Given the description of an element on the screen output the (x, y) to click on. 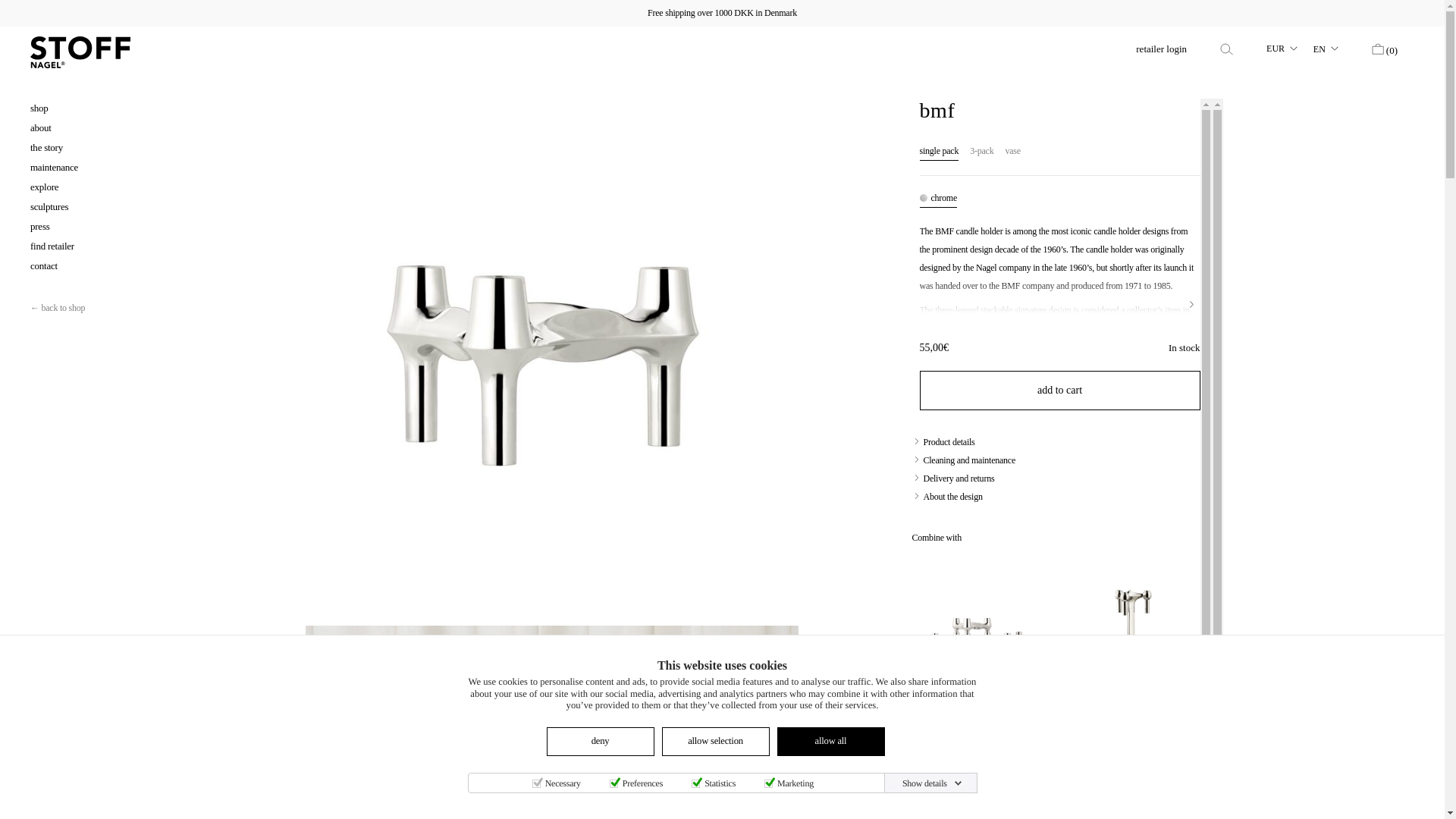
allow selection (714, 741)
allow all (829, 741)
Add to cart (1058, 390)
Show details (932, 783)
deny (599, 741)
